Given the description of an element on the screen output the (x, y) to click on. 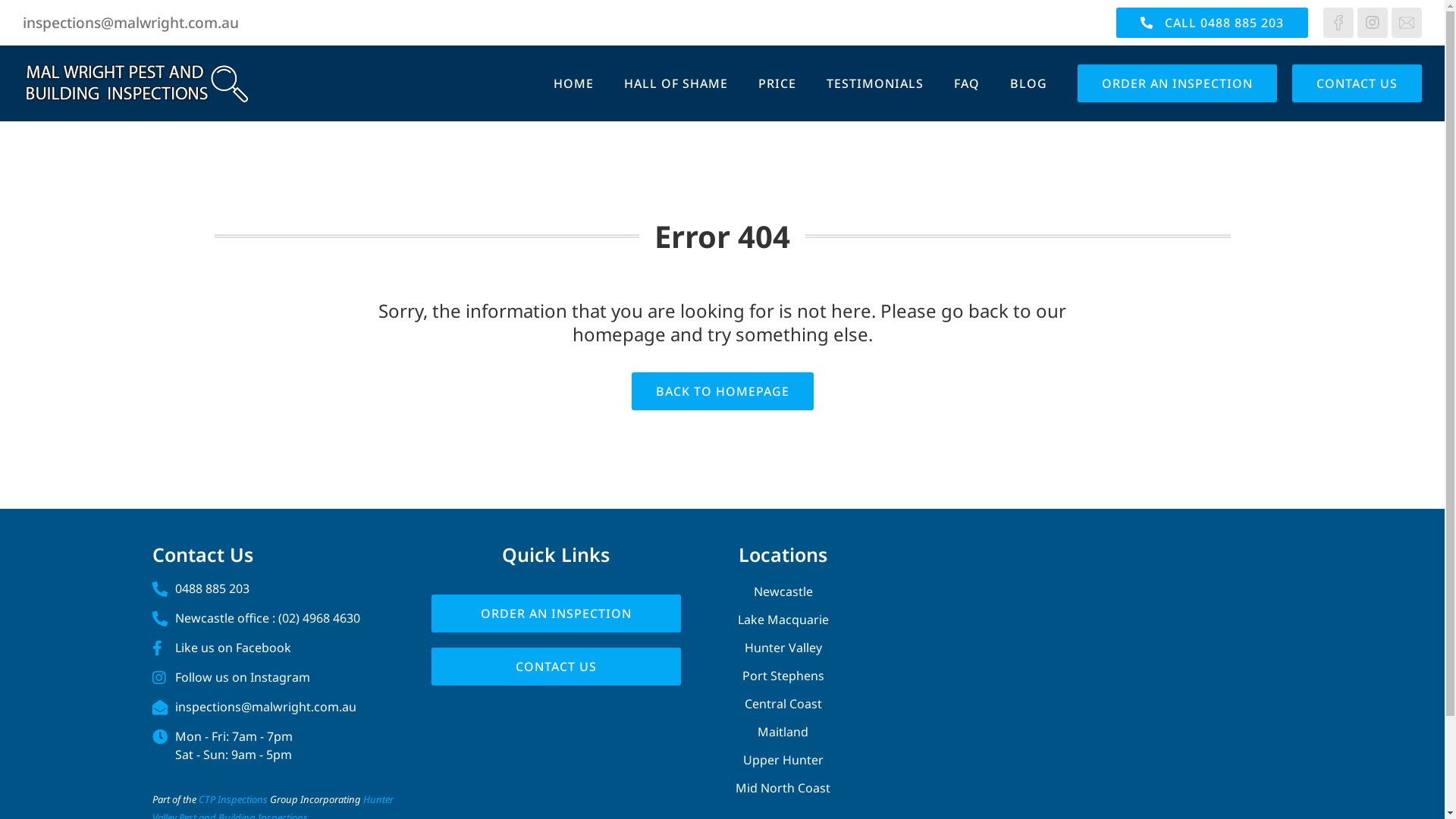
Mon - Fri: 7am - 7pm
Sat - Sun: 9am - 5pm Element type: text (276, 745)
TESTIMONIALS Element type: text (874, 82)
ORDER AN INSPECTION Element type: text (1177, 83)
ORDER AN INSPECTION Element type: text (555, 613)
0488 885 203 Element type: text (276, 588)
HOME Element type: text (573, 82)
CONTACT US Element type: text (555, 666)
inspections@malwright.com.au Element type: text (130, 22)
BACK TO HOMEPAGE Element type: text (721, 391)
Mid North Coast Element type: text (783, 787)
Newcastle office : (02) 4968 4630 Element type: text (276, 617)
PRICE Element type: text (777, 82)
Upper Hunter Element type: text (783, 759)
Follow us on Instagram Element type: text (276, 677)
BLOG Element type: text (1028, 82)
CALL 0488 885 203 Element type: text (1212, 22)
Port Stephens Element type: text (783, 675)
Newcastle Element type: text (783, 591)
FAQ Element type: text (966, 82)
Like us on Facebook Element type: text (276, 647)
Hunter Valley Element type: text (783, 647)
Lake Macquarie Element type: text (783, 619)
CTP Inspections Element type: text (232, 799)
HALL OF SHAME Element type: text (675, 82)
Central Coast Element type: text (783, 703)
inspections@malwright.com.au Element type: text (276, 706)
Maitland Element type: text (783, 731)
CONTACT US Element type: text (1356, 83)
